Given the description of an element on the screen output the (x, y) to click on. 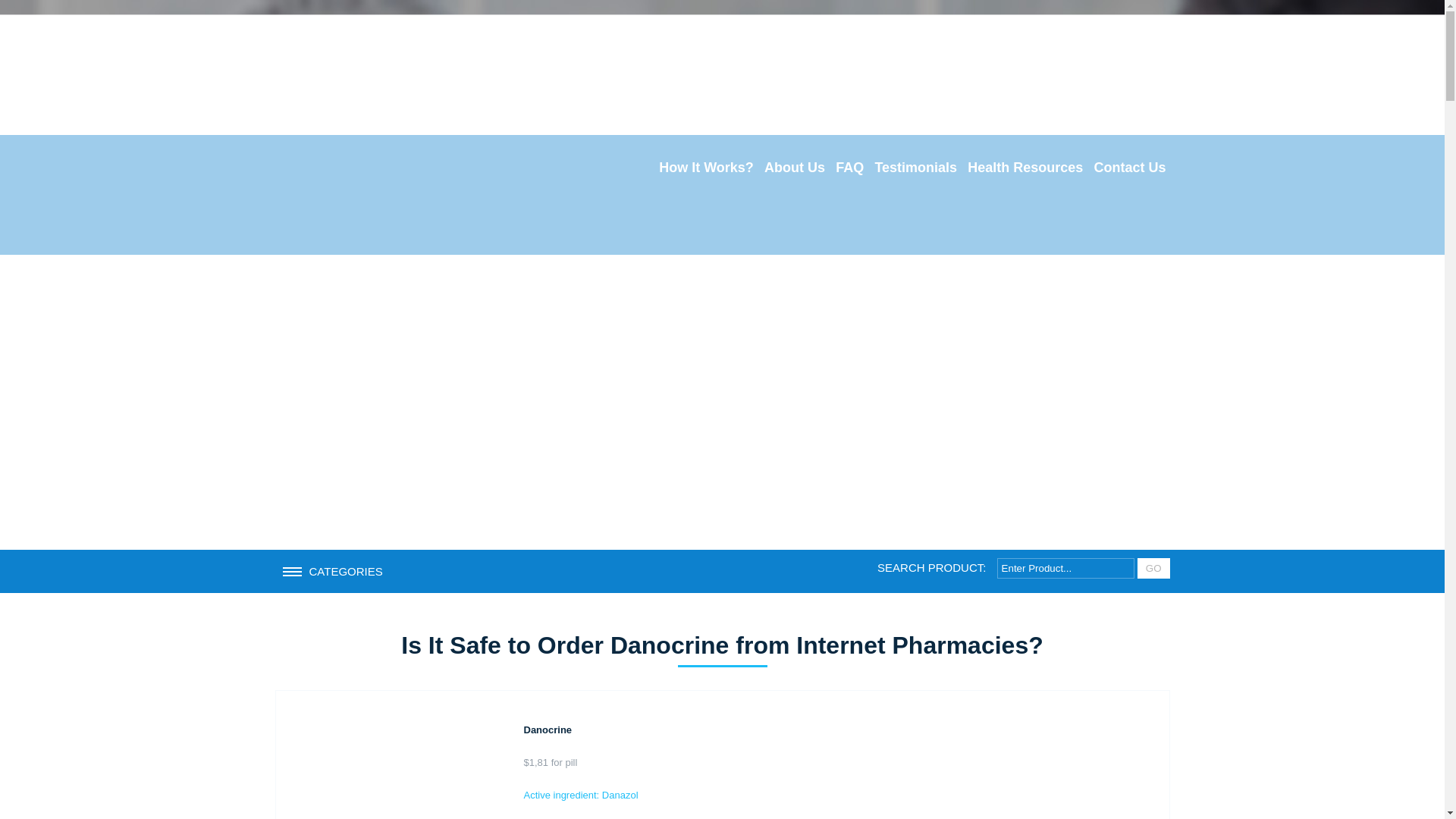
How It Works? (706, 167)
Health Resources (1024, 167)
About Us (794, 167)
Testimonials (915, 167)
Enter Product... (1065, 567)
XLPharmacy (378, 194)
GO (1153, 567)
Contact Us (1129, 167)
